Given the description of an element on the screen output the (x, y) to click on. 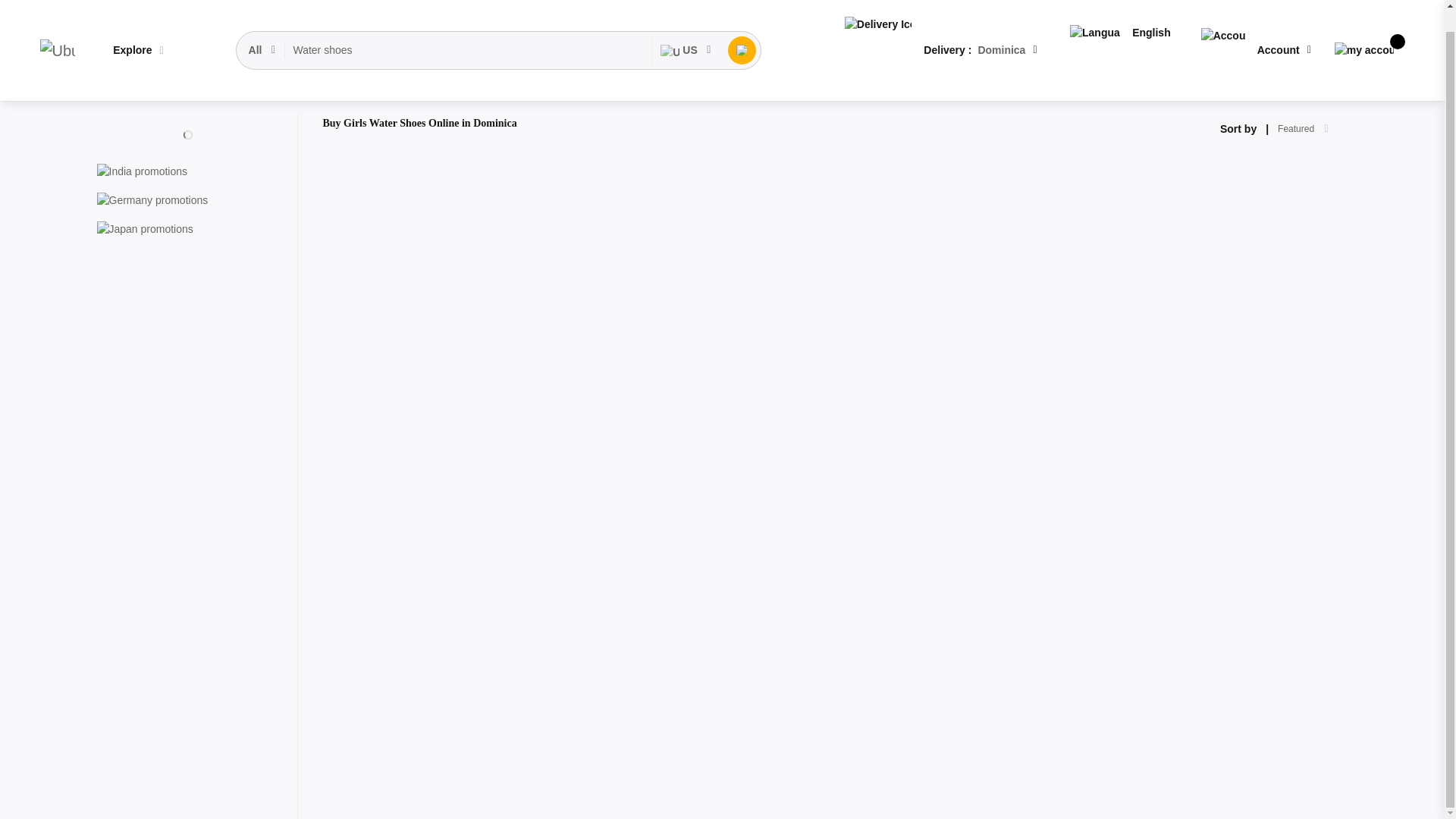
All (283, 28)
Clothing Shoes Jewelry (215, 89)
Water shoes (500, 27)
Cart (1385, 27)
Ubuy (67, 28)
Home Page (124, 89)
Water shoes (500, 27)
US (728, 28)
Home Page (124, 89)
